Given the description of an element on the screen output the (x, y) to click on. 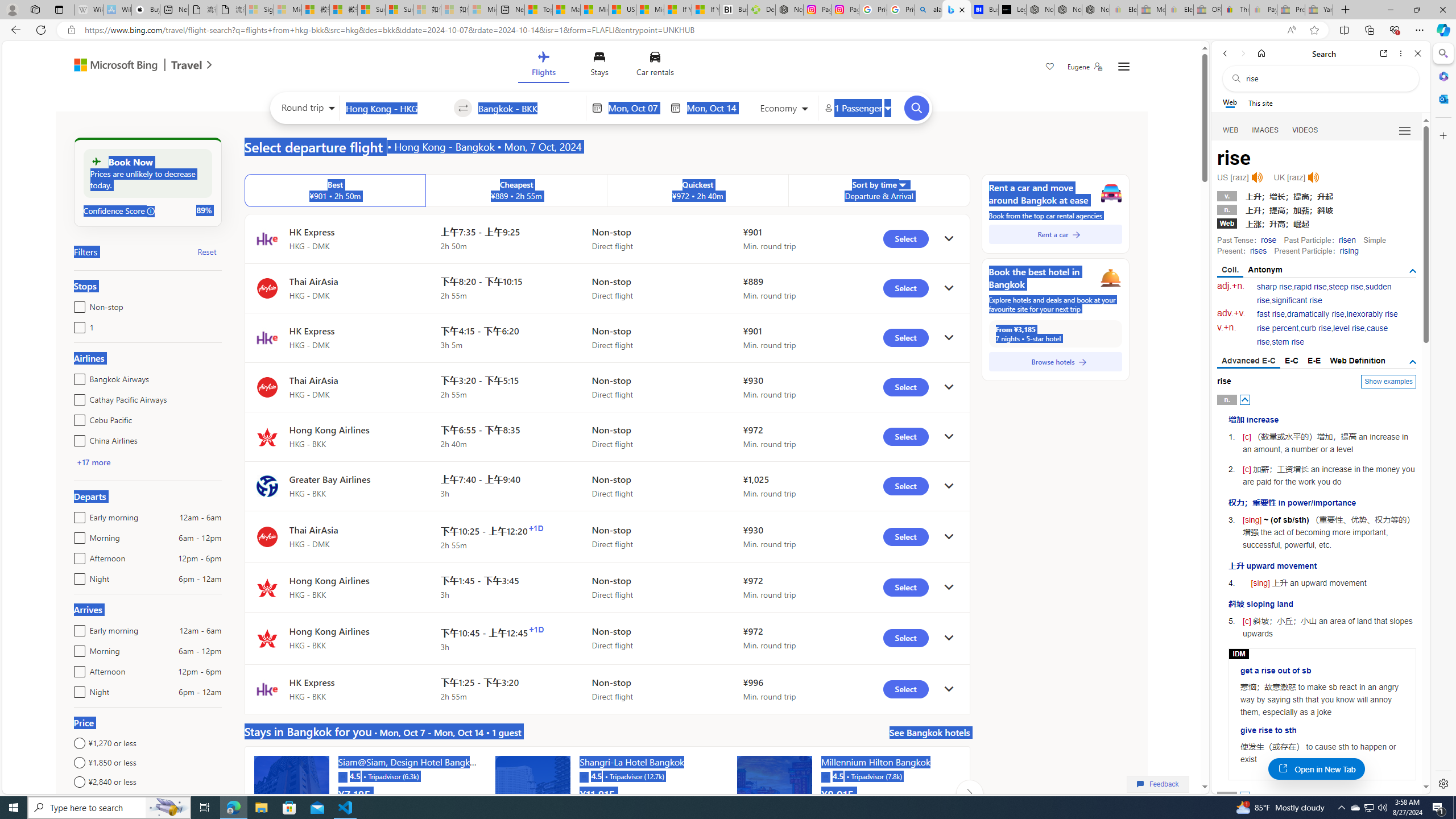
Forward (1242, 53)
Web Definition (1357, 360)
inexorably rise (1371, 313)
rising (1348, 250)
AutomationID: posbtn_1 (1245, 796)
rises (1257, 250)
Select trip type (305, 110)
dramatically rise (1315, 313)
Info tooltip (151, 211)
Advanced E-C (1248, 361)
Browse hotels (1055, 361)
